Given the description of an element on the screen output the (x, y) to click on. 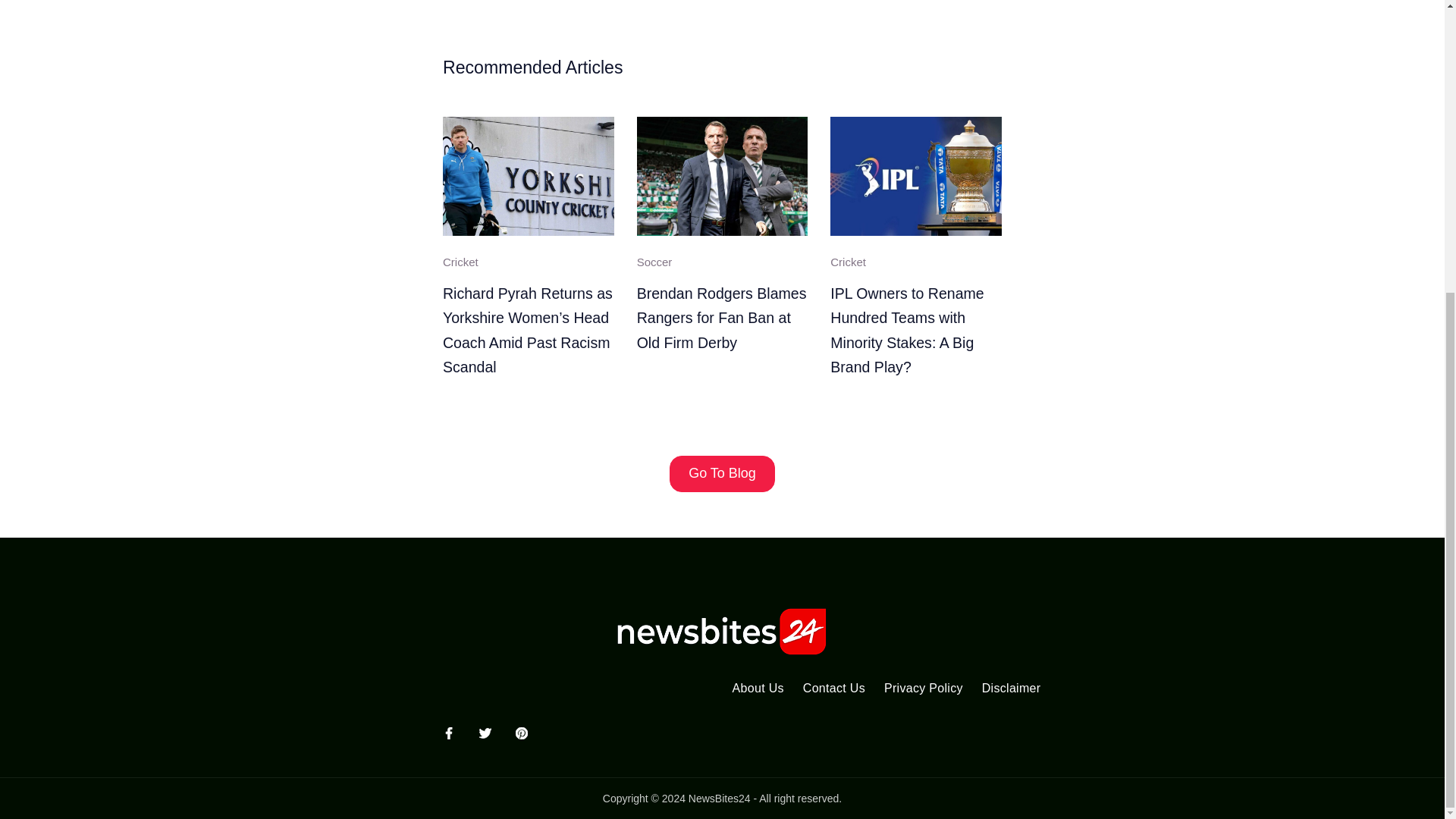
Disclaimer (1010, 688)
Contact Us (834, 688)
Privacy Policy (923, 688)
Go To Blog (721, 473)
Brendan Rodgers Blames Rangers for Fan Ban at Old Firm Derby (721, 318)
Soccer (654, 261)
Cricket (460, 261)
About Us (757, 688)
Cricket (847, 261)
